Given the description of an element on the screen output the (x, y) to click on. 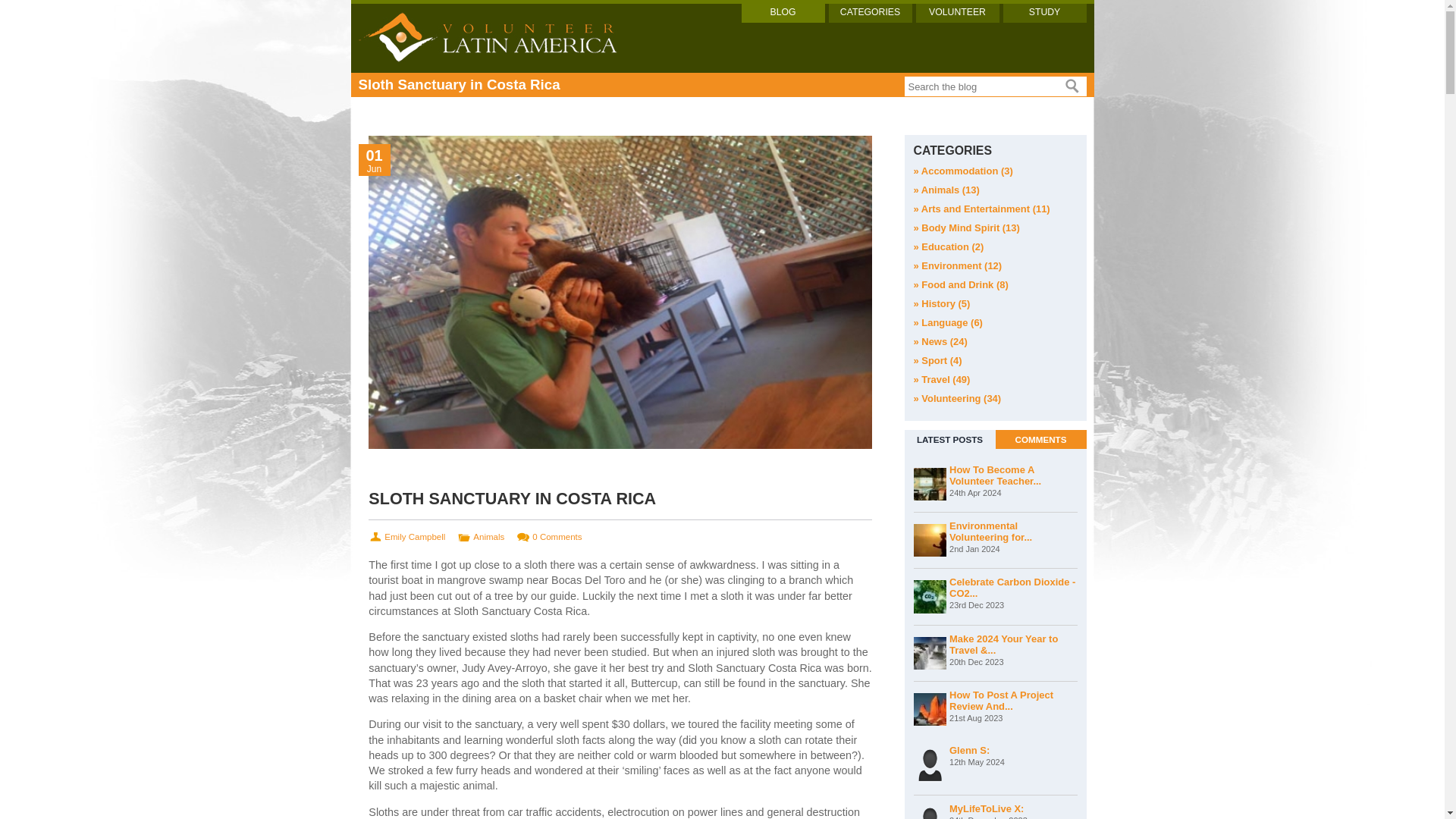
How To Become A Volunteer Teacher In Latin America (1013, 480)
How To Post A Project Review And Claim Free Membership (1013, 706)
Environmental Volunteering for Mental Health (1013, 537)
Celebrate Carbon Dioxide - CO2 is the Gas of Life (1013, 593)
Emily Campbell (414, 537)
LATEST POSTS (949, 438)
VOLUNTEER (956, 13)
CATEGORIES (869, 13)
BLOG (783, 13)
COMMENTS (1040, 438)
STUDY (1044, 13)
0 Comments (556, 537)
Posted in: Animals (488, 537)
Animals (488, 537)
